Given the description of an element on the screen output the (x, y) to click on. 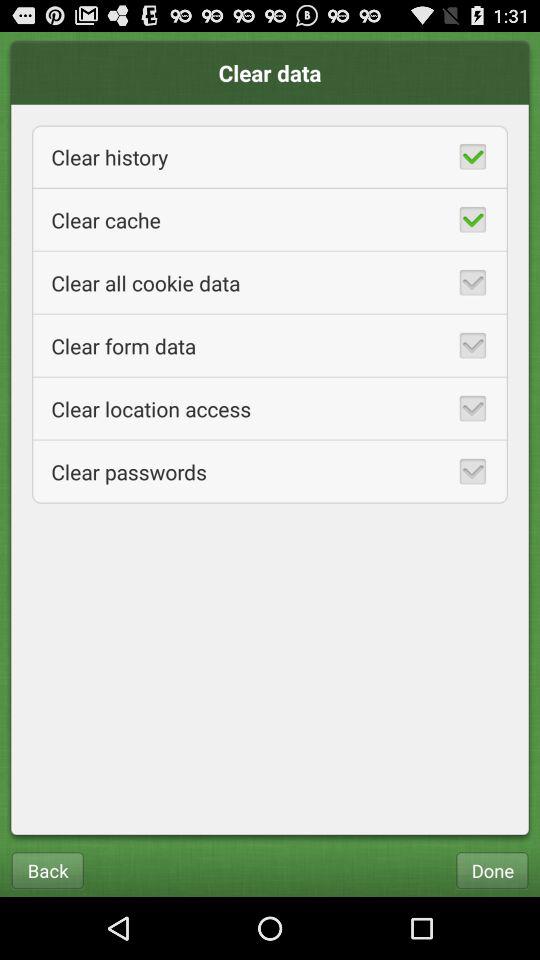
turn on item below clear passwords icon (47, 870)
